Given the description of an element on the screen output the (x, y) to click on. 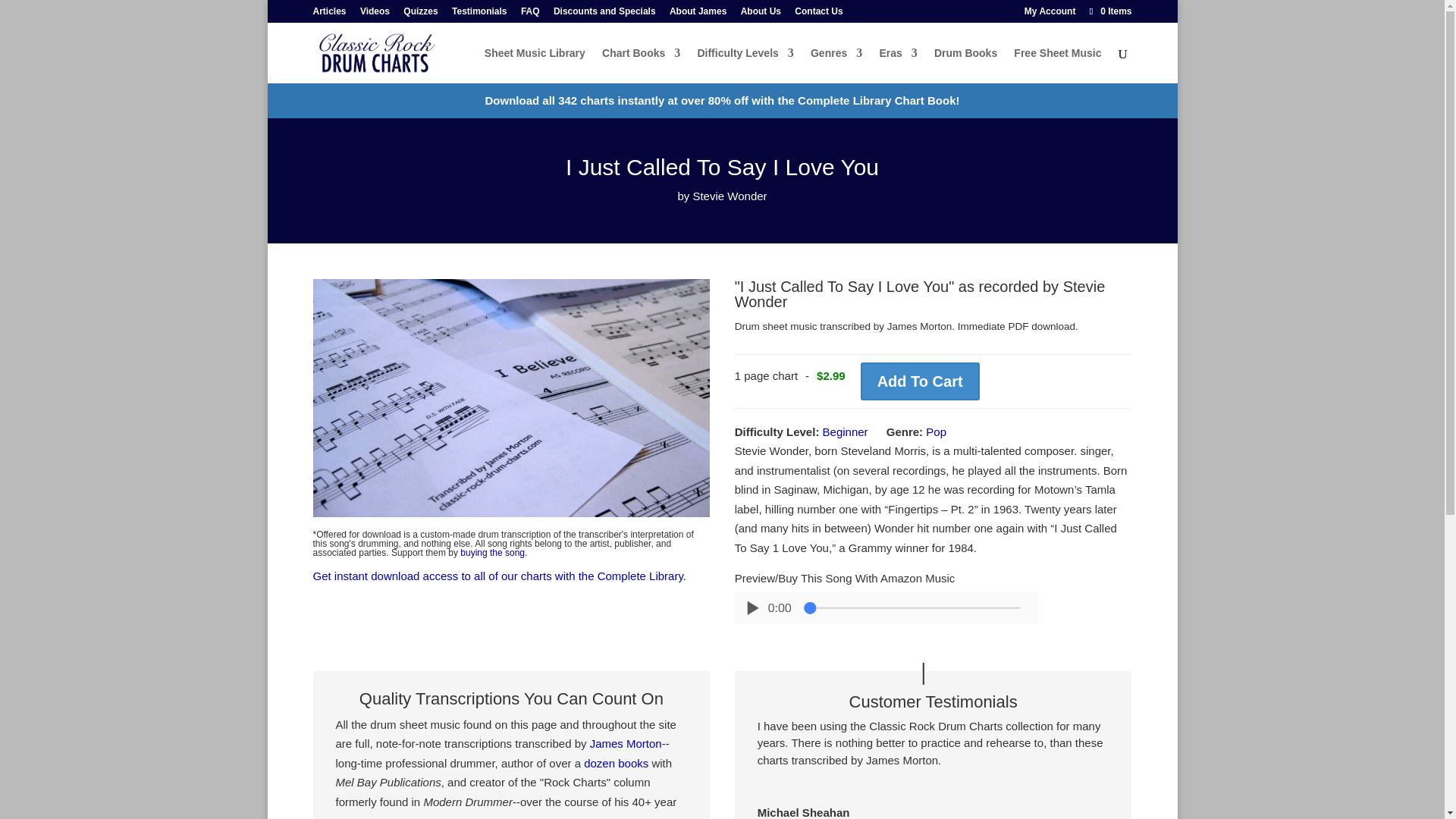
Testimonials (478, 14)
Chart Books (640, 65)
Difficulty Levels (745, 65)
About Us (760, 14)
Discounts and Specials (604, 14)
Quizzes (420, 14)
Eras (898, 65)
Sheet Music Library (534, 65)
FAQ (530, 14)
0 Items (1110, 10)
Articles (329, 14)
Contact Us (818, 14)
My Account (1050, 10)
About James (697, 14)
Genres (835, 65)
